Given the description of an element on the screen output the (x, y) to click on. 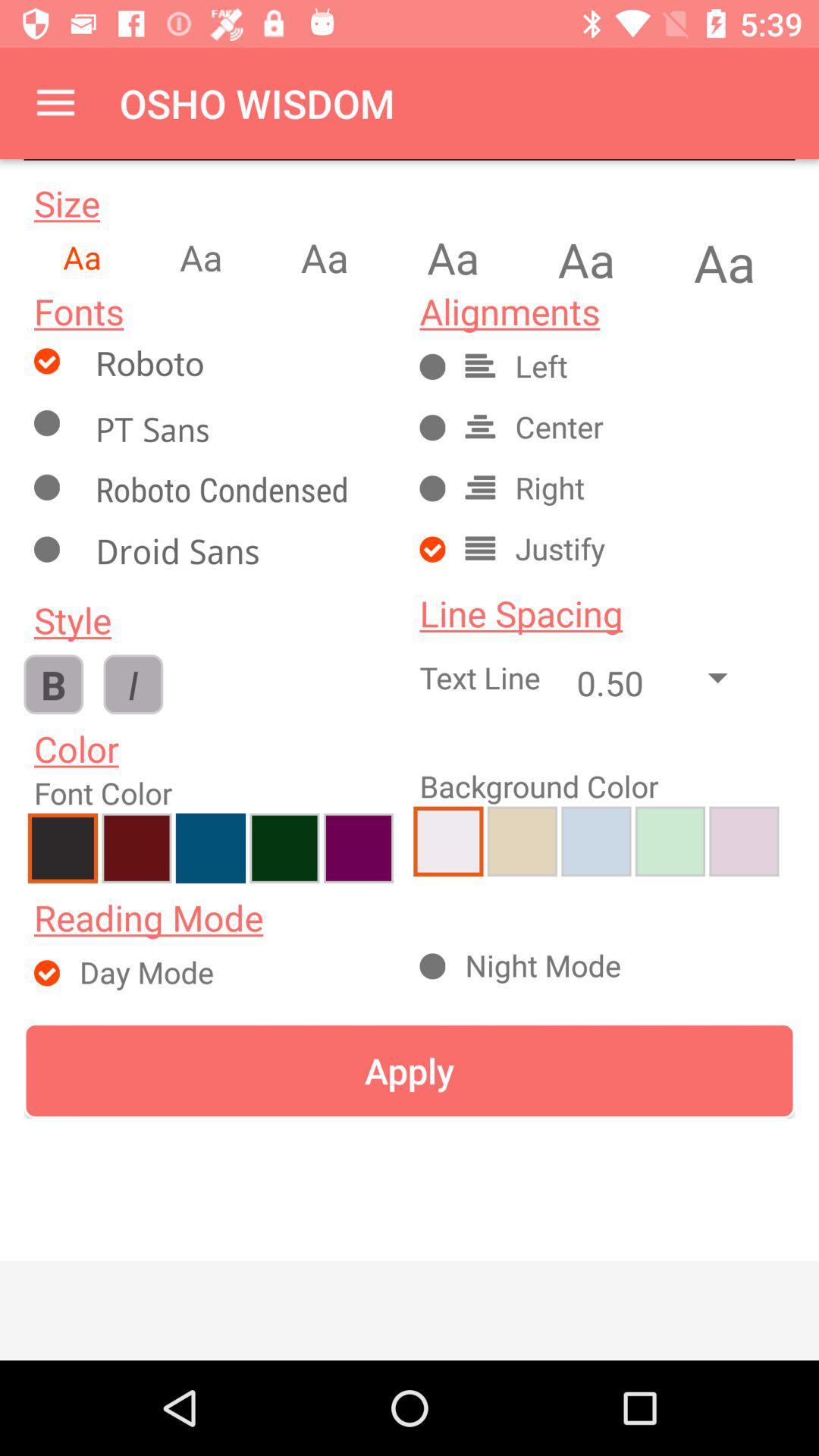
change font color (210, 848)
